Given the description of an element on the screen output the (x, y) to click on. 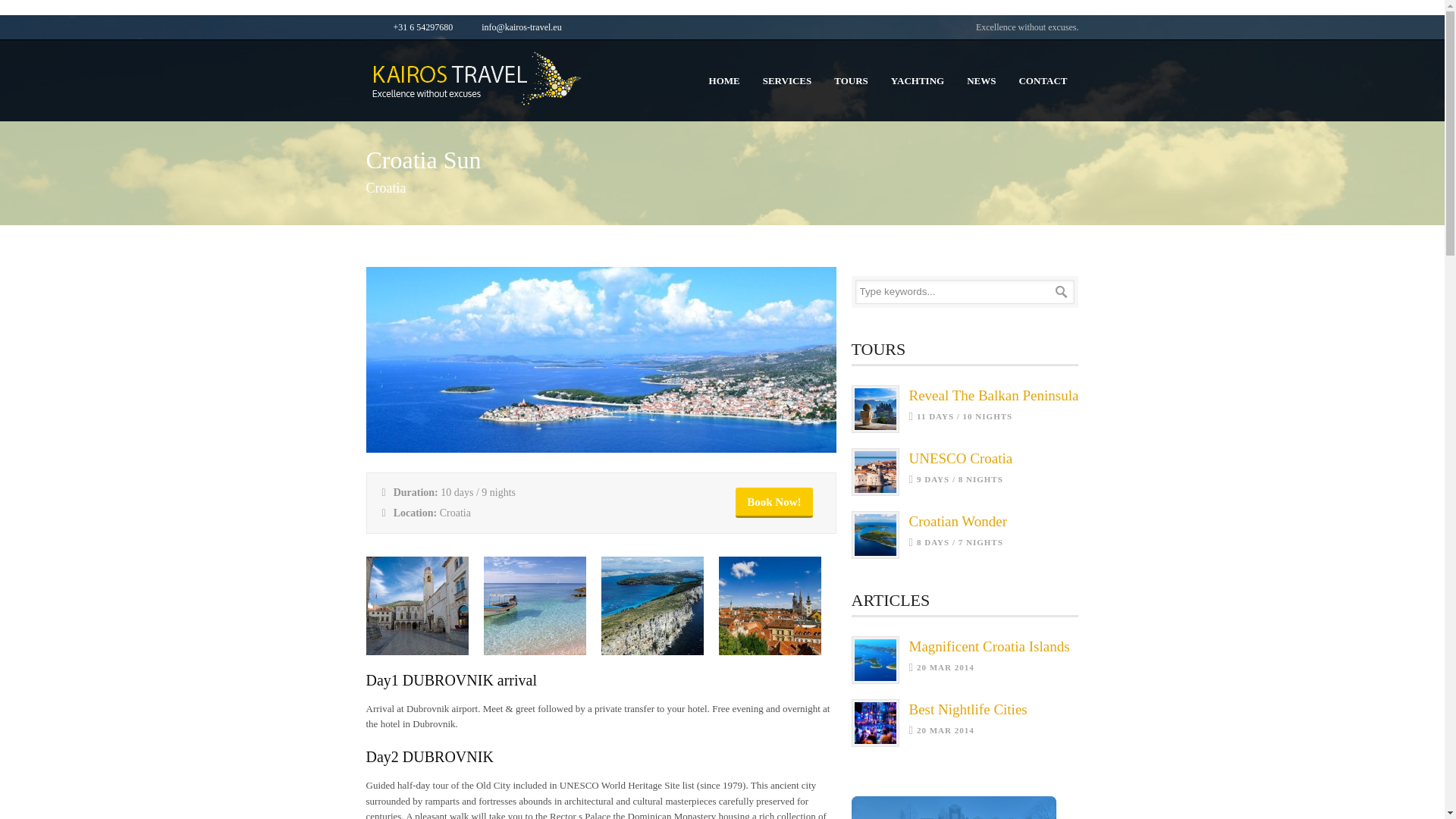
CONTACT (1042, 81)
Book Now! (952, 807)
NEWS (773, 502)
Magnificent Croatia Islands (981, 81)
Croatia Sun (988, 646)
Reveal The Balkan Peninsula (600, 449)
YACHTING (993, 395)
Best Nightlife Cities (917, 81)
SERVICES (967, 709)
HOME (787, 81)
UNESCO Croatia (724, 81)
TOURS (959, 458)
Croatian Wonder (850, 81)
Type keywords... (957, 521)
